Given the description of an element on the screen output the (x, y) to click on. 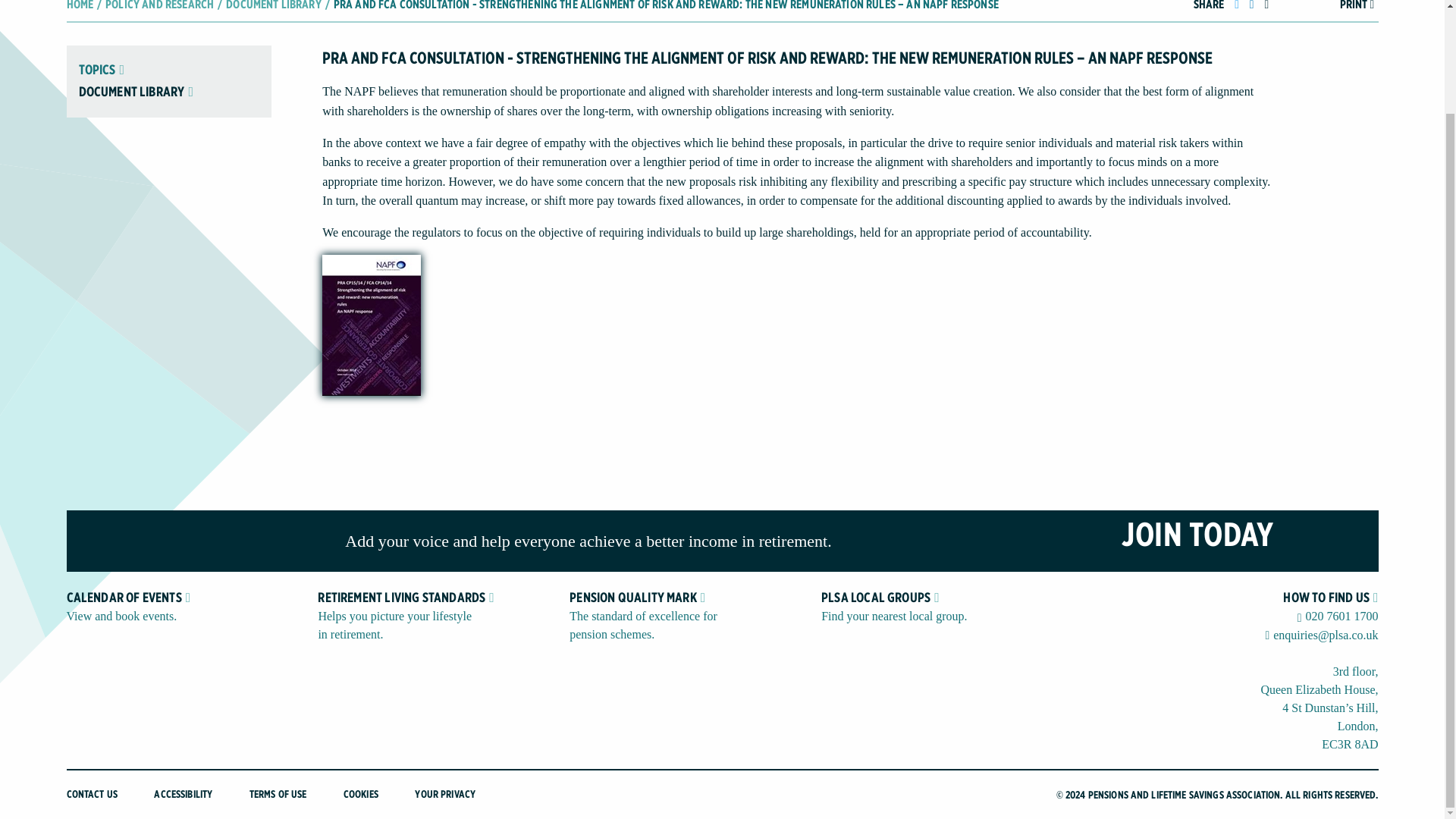
HOME (80, 5)
POLICY AND RESEARCH (159, 5)
